Given the description of an element on the screen output the (x, y) to click on. 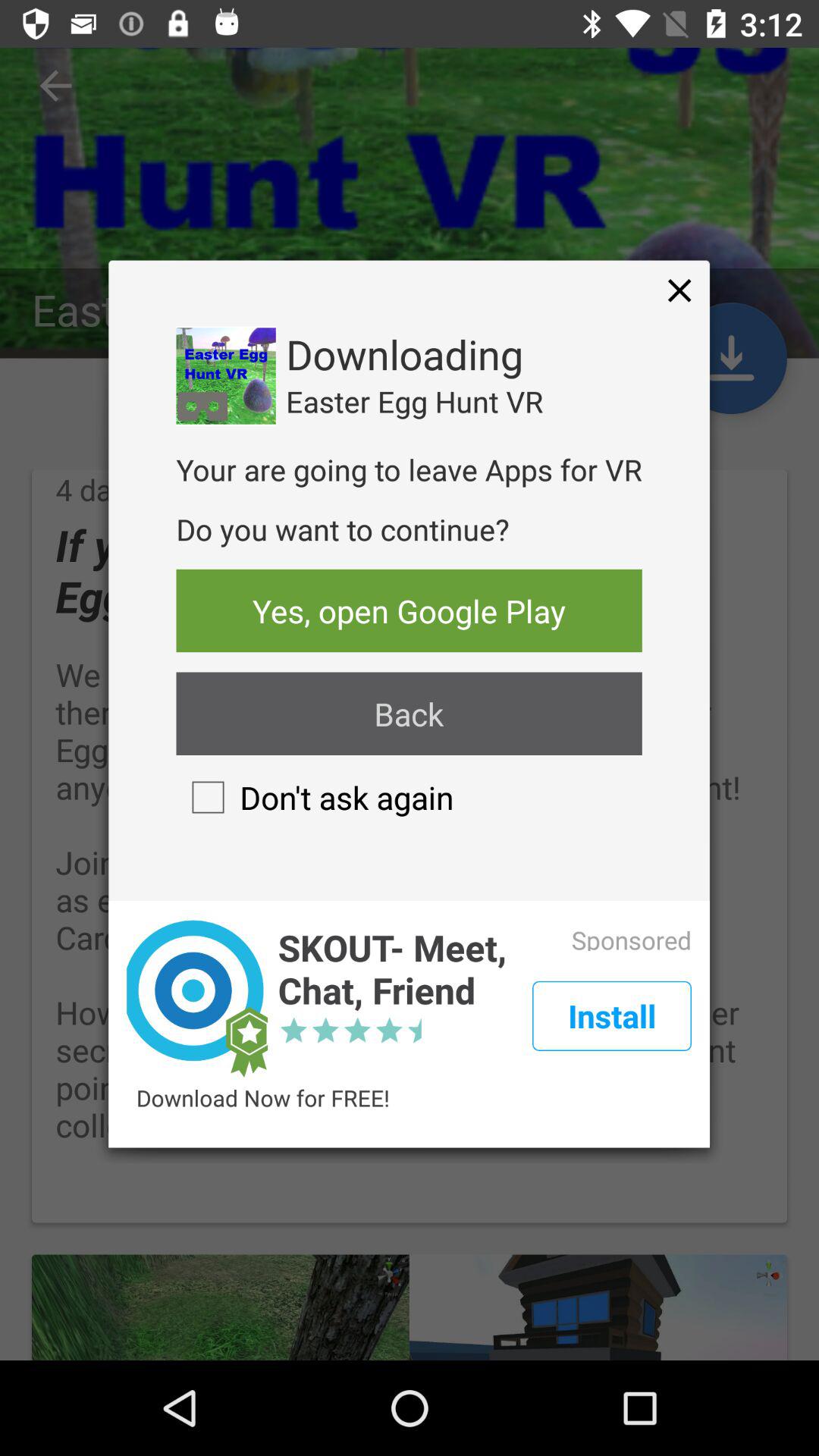
turn off the item above the sponsored icon (679, 290)
